Given the description of an element on the screen output the (x, y) to click on. 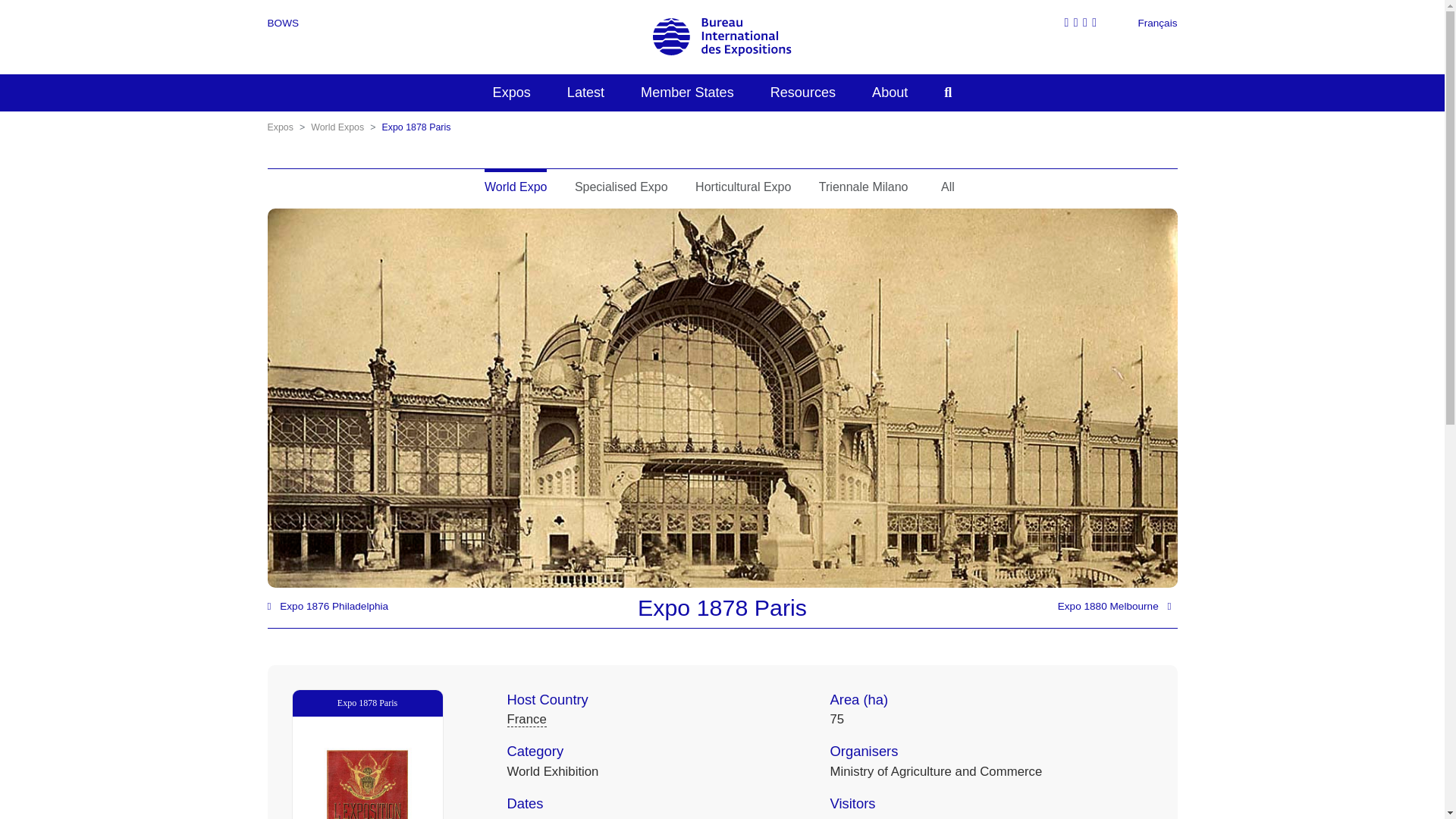
Bureau Intetnational des Expositions (721, 37)
Expo 1878 Paris (367, 807)
France (526, 719)
